Given the description of an element on the screen output the (x, y) to click on. 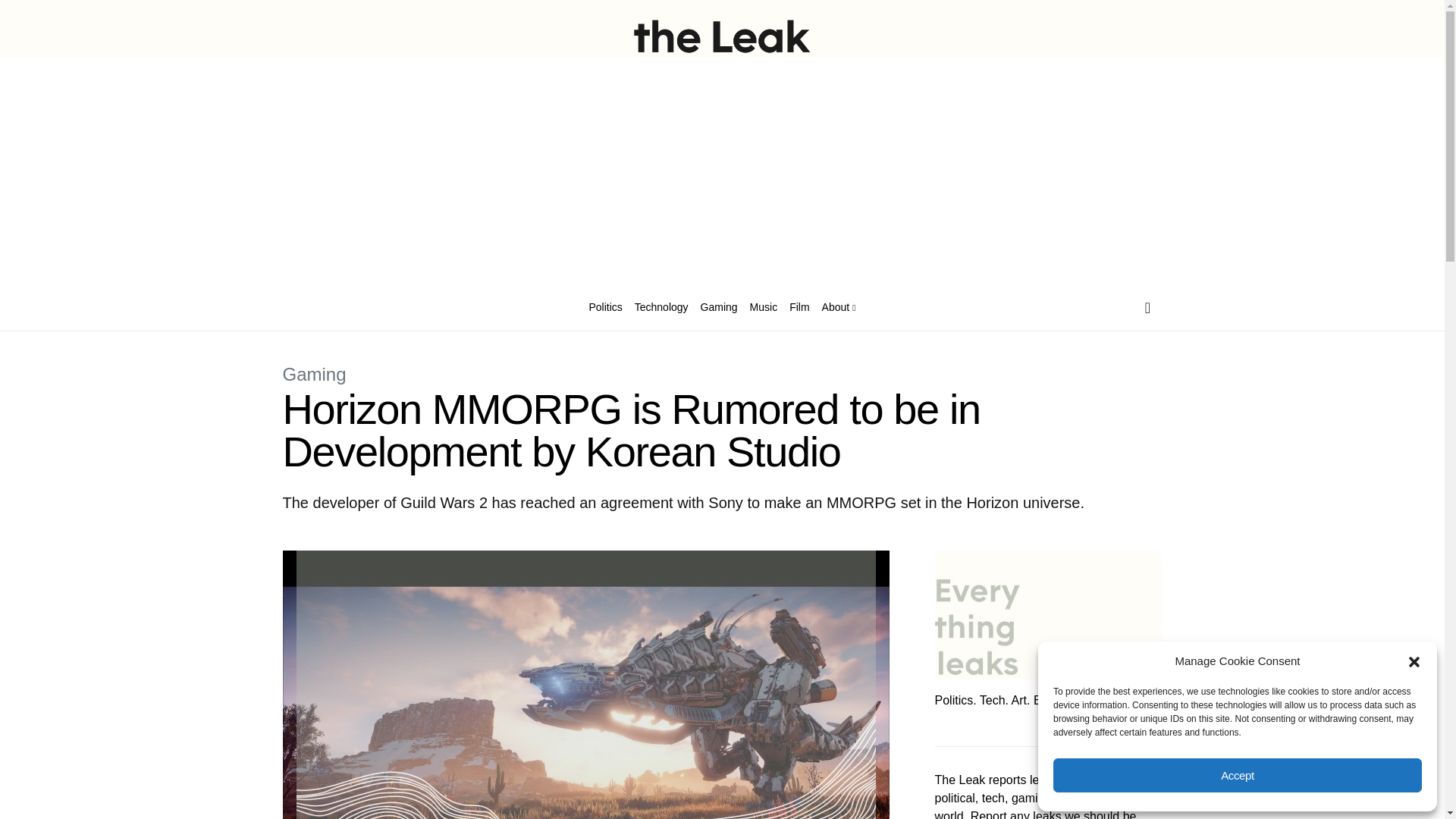
Gaming (314, 373)
Gaming (719, 307)
Technology (661, 307)
Accept (1237, 775)
